Given the description of an element on the screen output the (x, y) to click on. 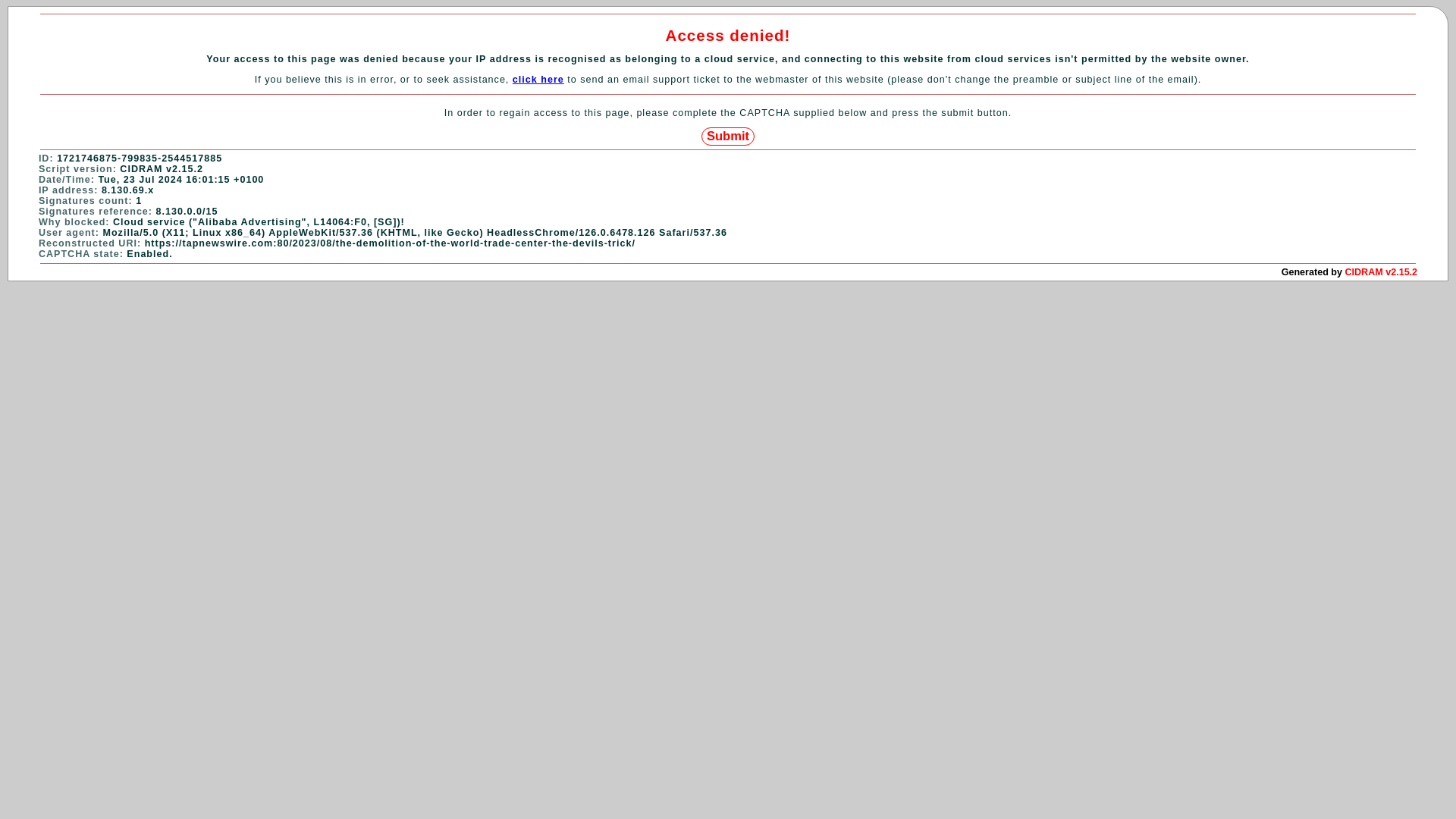
Submit (727, 136)
click here (538, 79)
Submit (727, 136)
